Given the description of an element on the screen output the (x, y) to click on. 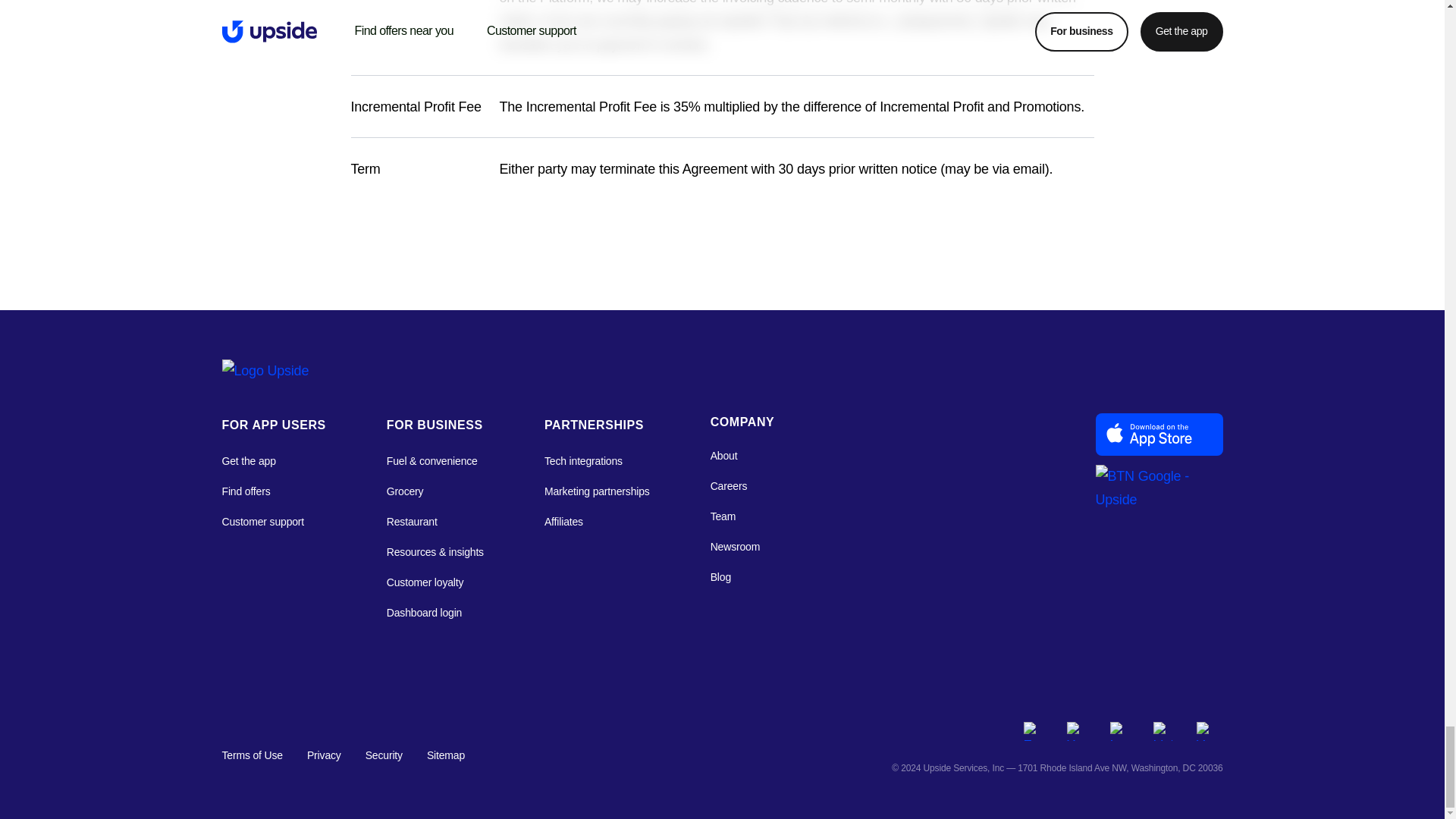
Blog (742, 577)
FOR BUSINESS (435, 425)
Team (742, 515)
Affiliates (596, 521)
About (742, 455)
Dashboard login (435, 612)
Marketing partnerships (596, 491)
Find offers (272, 491)
Customer loyalty (435, 582)
Customer support (272, 521)
